Given the description of an element on the screen output the (x, y) to click on. 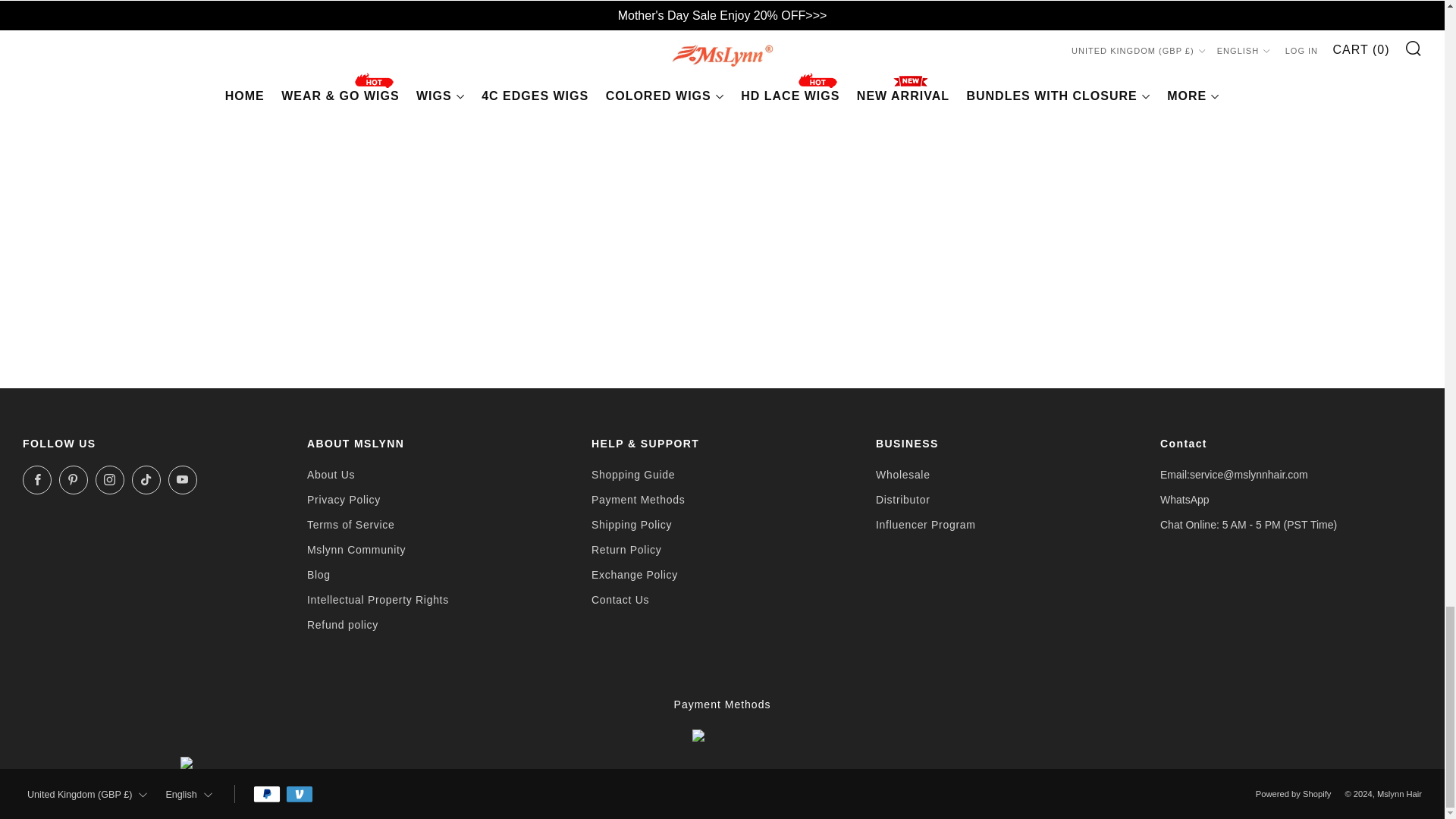
22 (1107, 62)
22 (1107, 88)
